Given the description of an element on the screen output the (x, y) to click on. 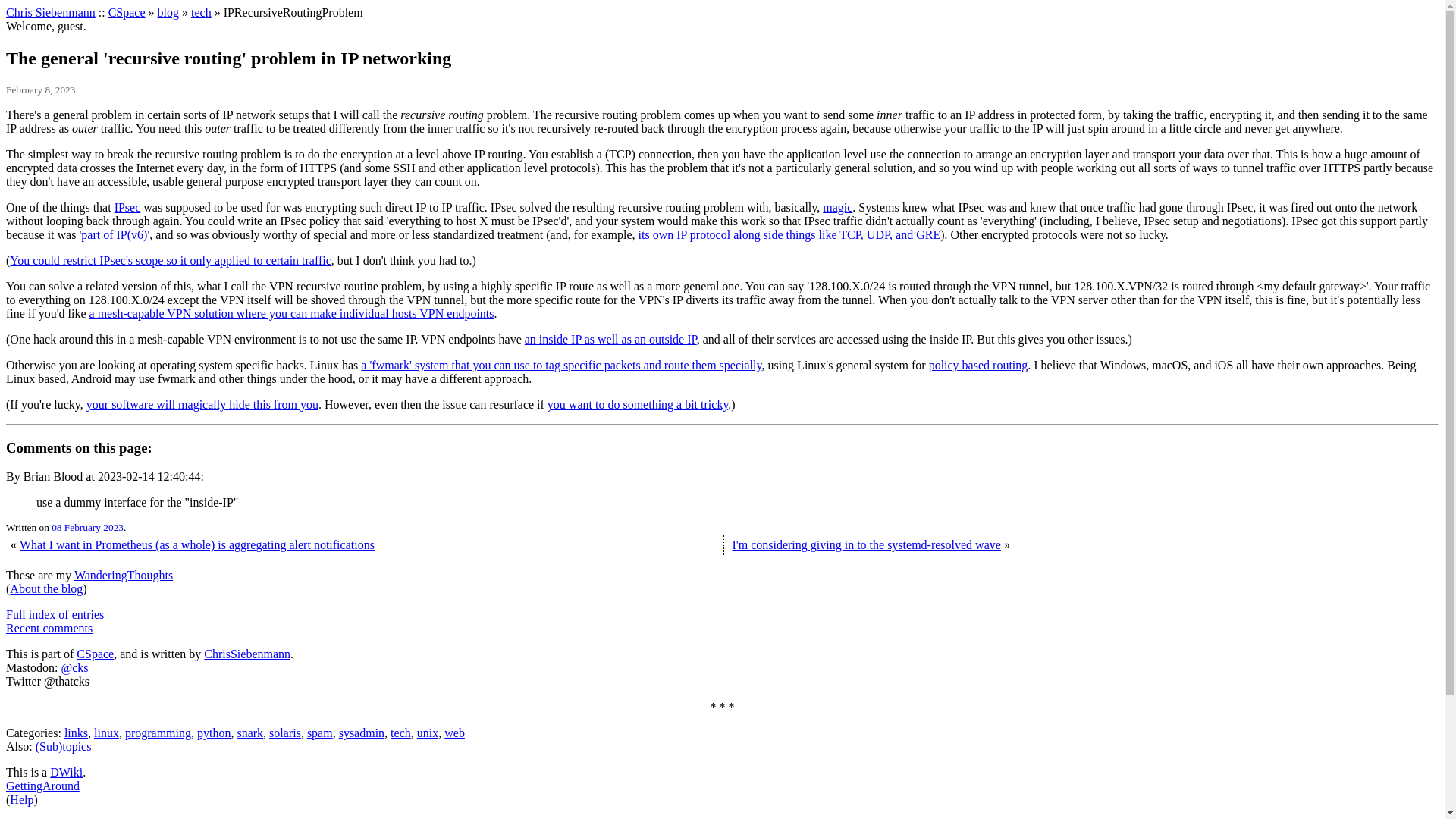
Recent comments (49, 627)
blog (168, 11)
snark (249, 732)
Chris Siebenmann (50, 11)
your software will magically hide this from you (201, 404)
I'm considering giving in to the systemd-resolved wave (866, 544)
Full index of entries (54, 614)
an inside IP as well as an outside IP (610, 338)
IPsec (128, 206)
links (75, 732)
you want to do something a bit tricky (637, 404)
ChrisSiebenmann (246, 653)
linux (106, 732)
